Given the description of an element on the screen output the (x, y) to click on. 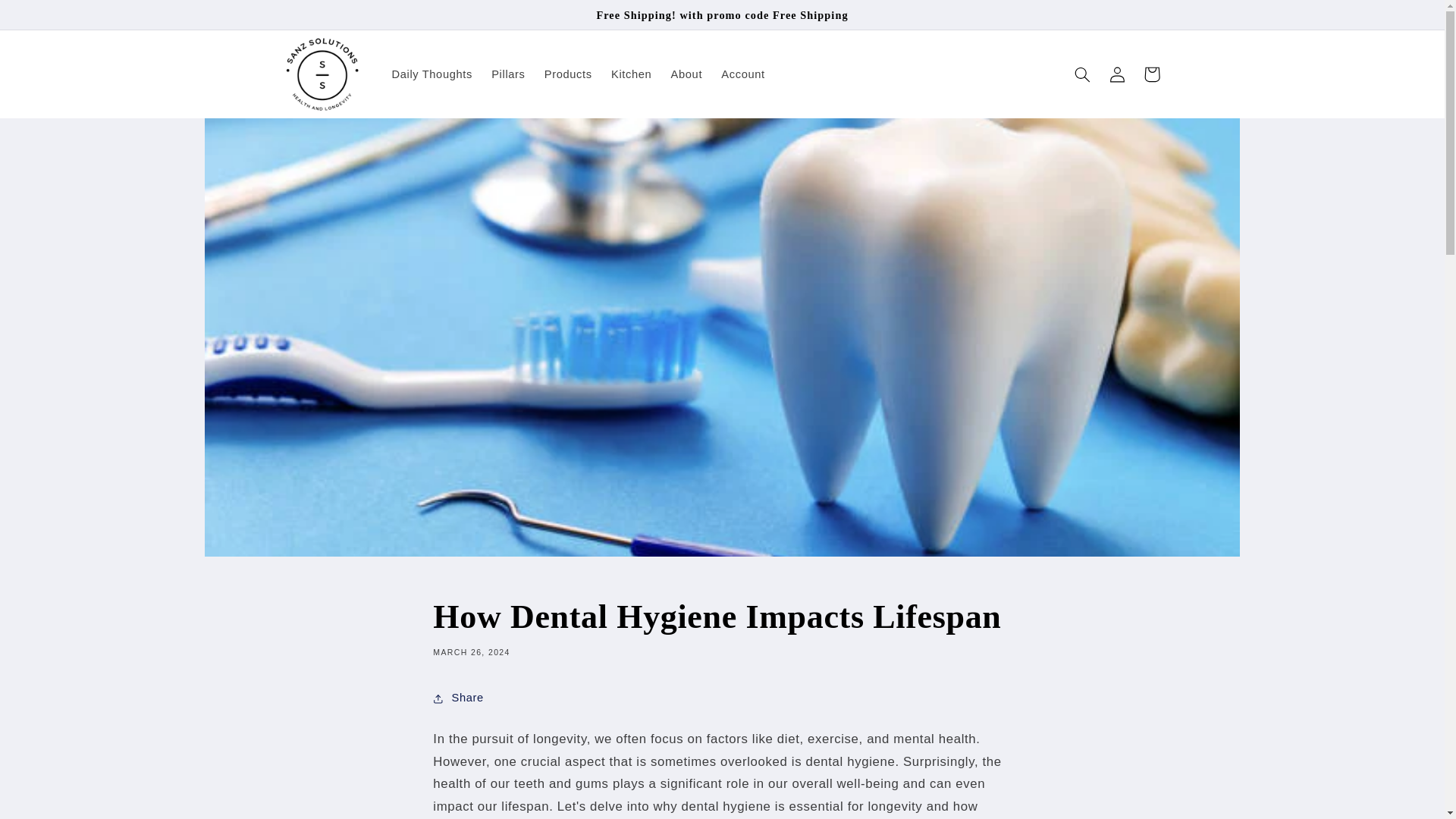
Account (742, 73)
Skip to content (48, 18)
About (686, 73)
Pillars (508, 73)
Log in (1116, 73)
Daily Thoughts (431, 73)
Kitchen (631, 73)
Products (567, 73)
Cart (1151, 73)
